Given the description of an element on the screen output the (x, y) to click on. 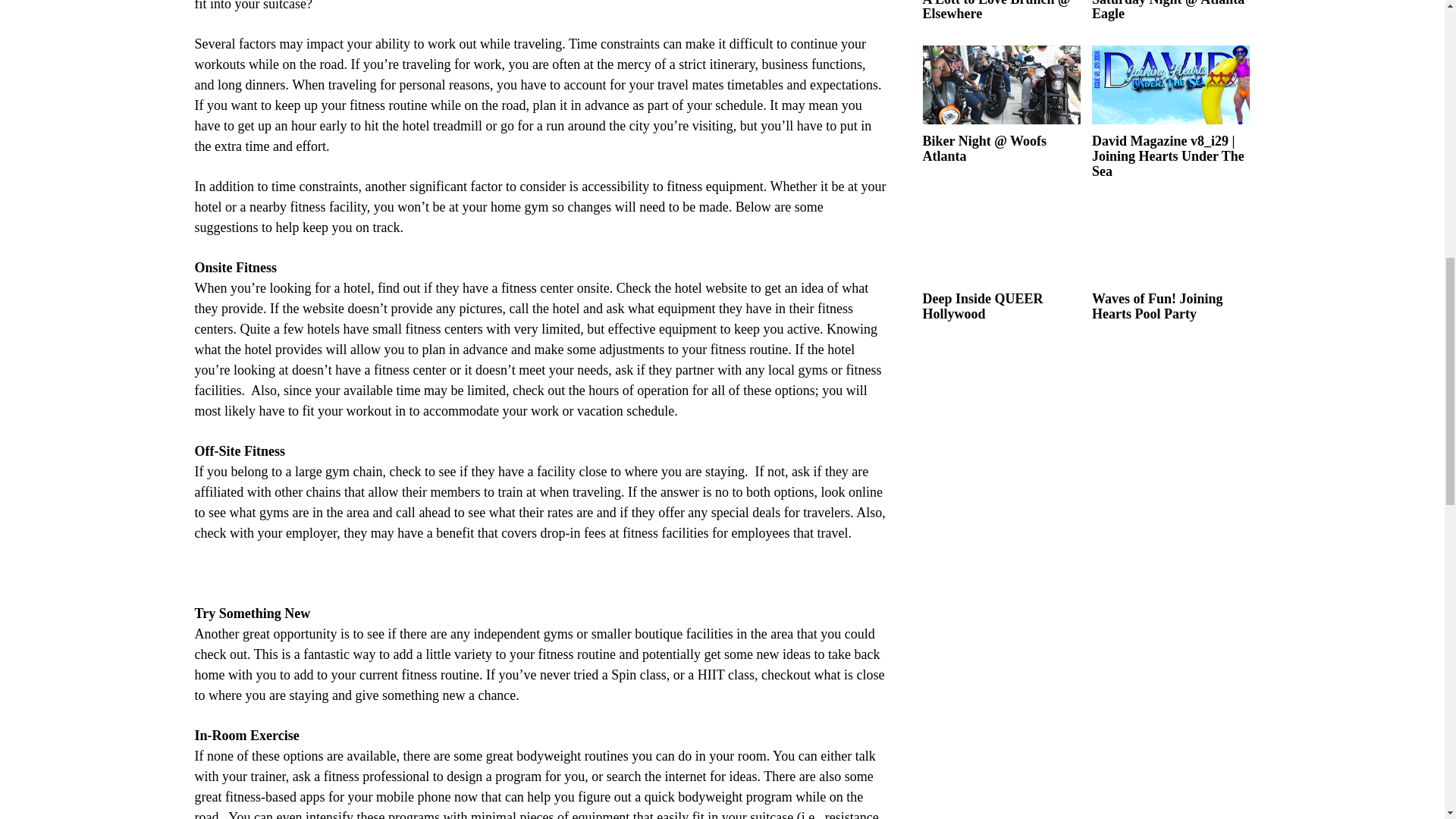
Deep Inside QUEER Hollywood (1000, 242)
